Given the description of an element on the screen output the (x, y) to click on. 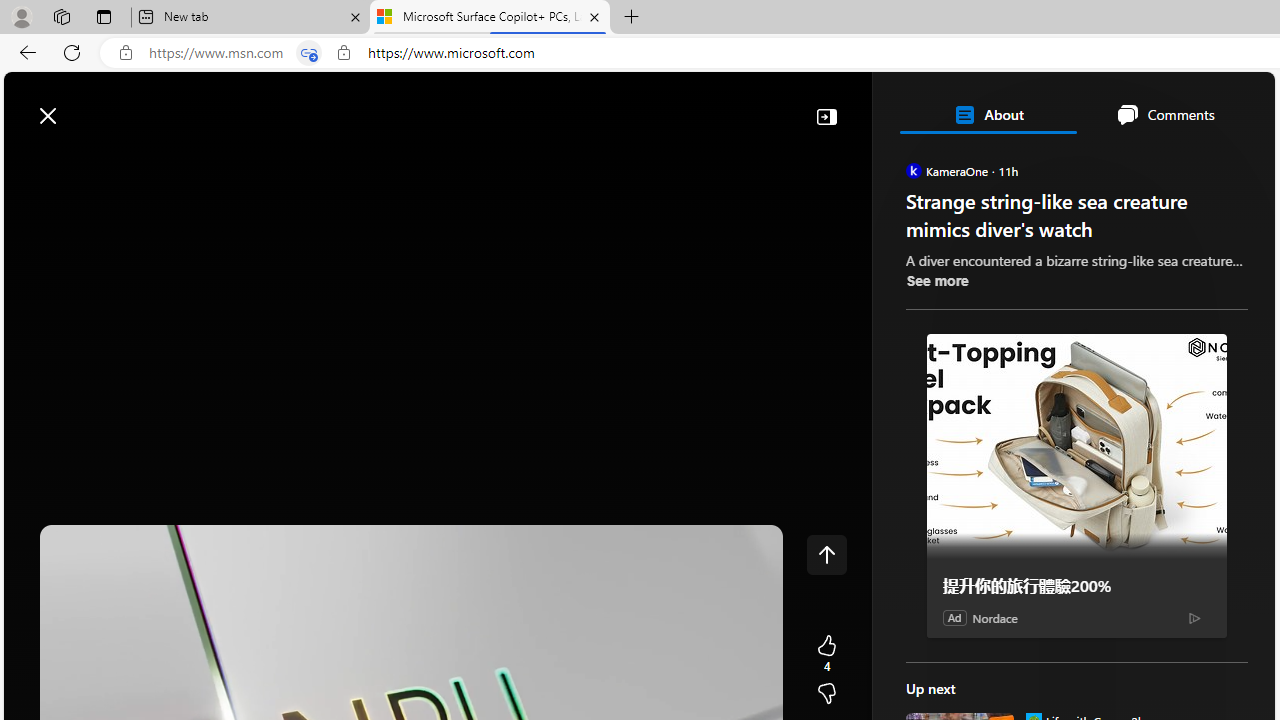
Class: button-glyph (29, 162)
Web search (283, 105)
Personalize (1195, 162)
4 Like (826, 653)
Open settings (1230, 105)
